Given the description of an element on the screen output the (x, y) to click on. 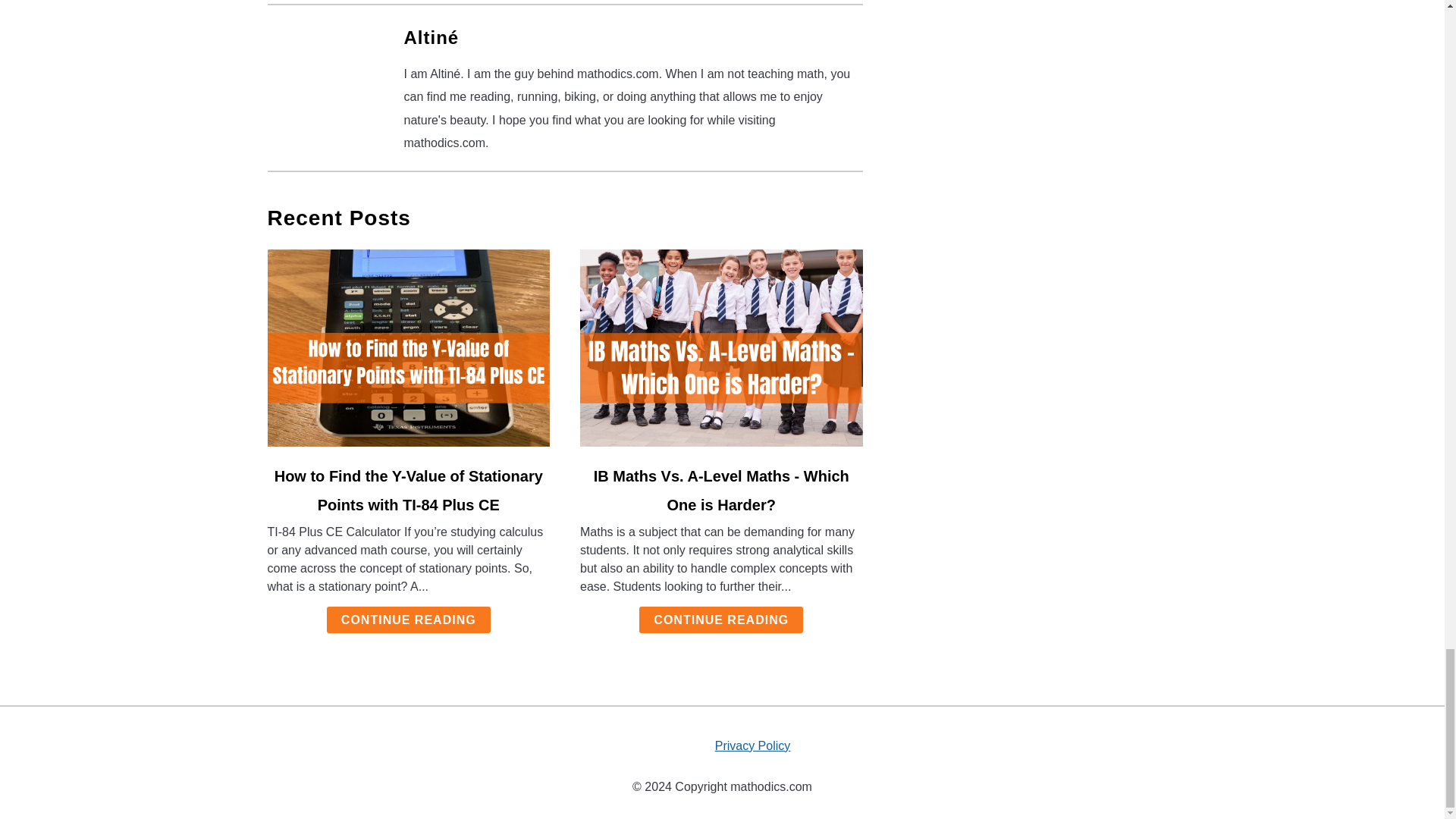
Privacy Policy (752, 745)
link to IB Maths Vs. A-Level Maths - Which One is Harder? (721, 347)
CONTINUE READING (408, 619)
IB Maths Vs. A-Level Maths - Which One is Harder? (721, 490)
CONTINUE READING (721, 619)
